Given the description of an element on the screen output the (x, y) to click on. 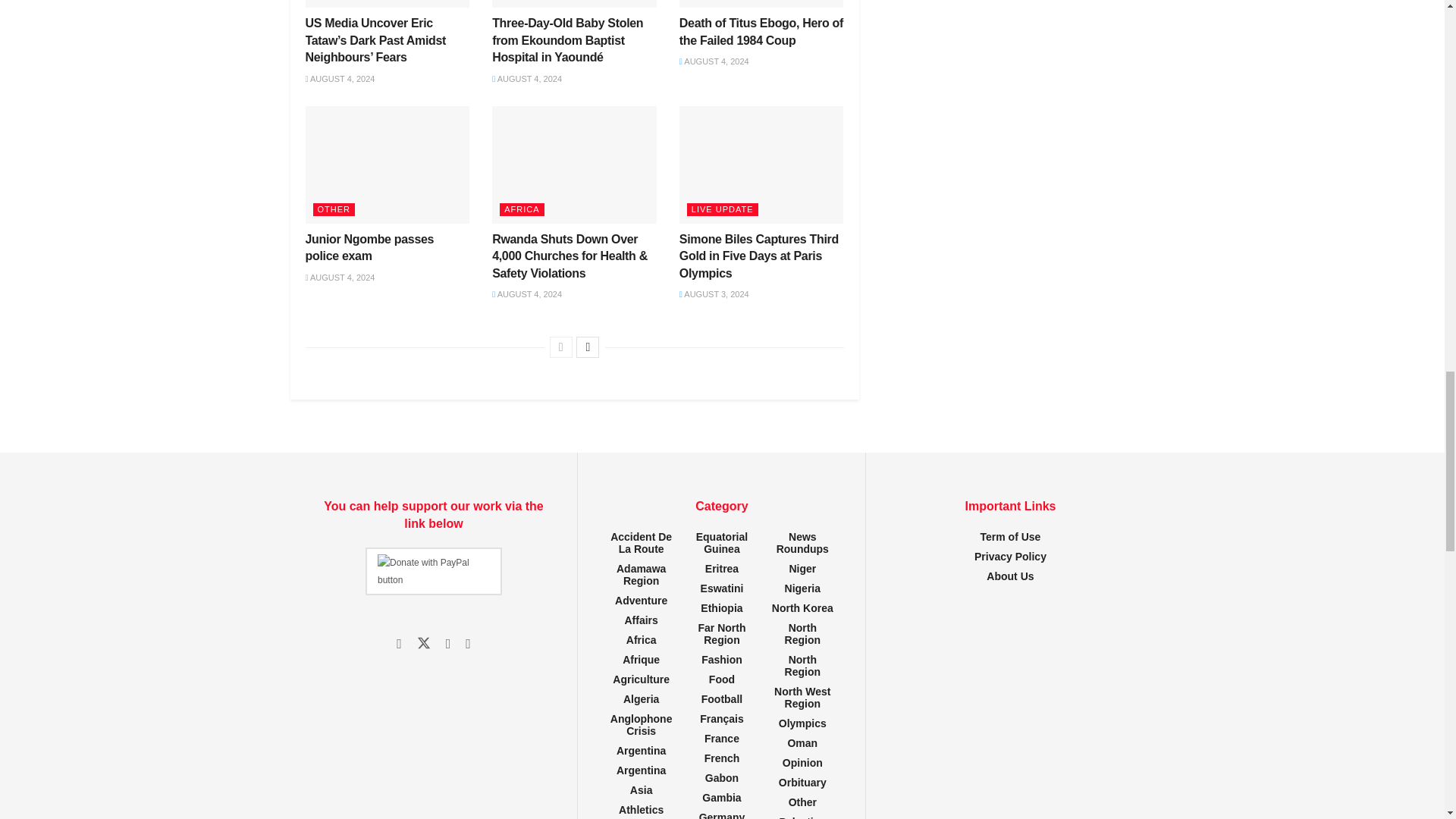
Next (587, 346)
Previous (561, 346)
PayPal - The safer, easier way to pay online! (433, 571)
